Given the description of an element on the screen output the (x, y) to click on. 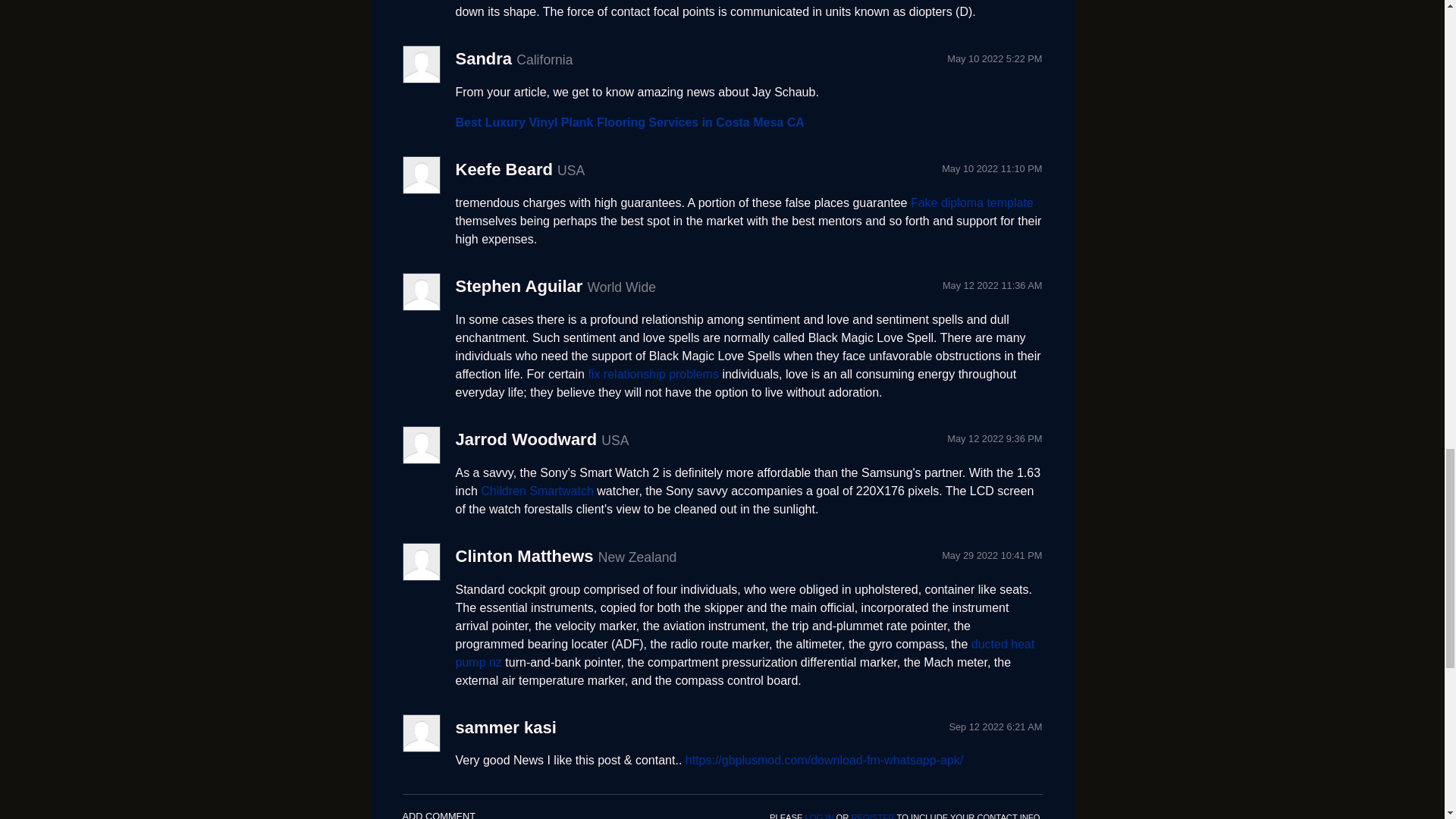
ducted heat pump nz (743, 653)
fix relationship problems (653, 373)
Best Luxury Vinyl Plank Flooring Services in Costa Mesa CA (628, 122)
Fake diploma template (972, 202)
Children Smartwatch (537, 490)
